Given the description of an element on the screen output the (x, y) to click on. 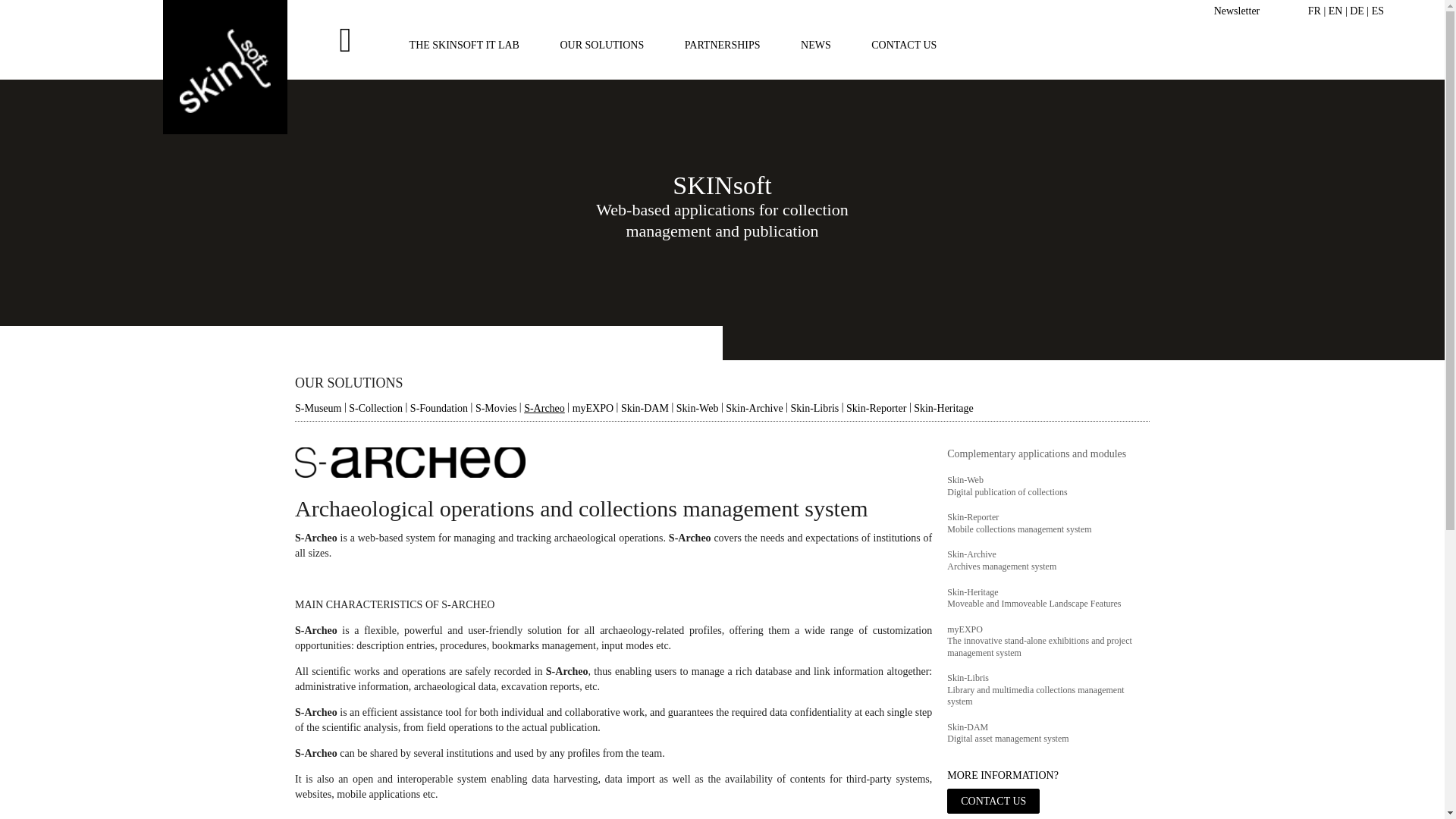
OUR SOLUTIONS (601, 44)
CONTACT US (903, 44)
Newsletter (1237, 10)
NEWS (815, 44)
THE SKINSOFT IT LAB (464, 44)
ES (1377, 10)
PARTNERSHIPS (722, 44)
